Given the description of an element on the screen output the (x, y) to click on. 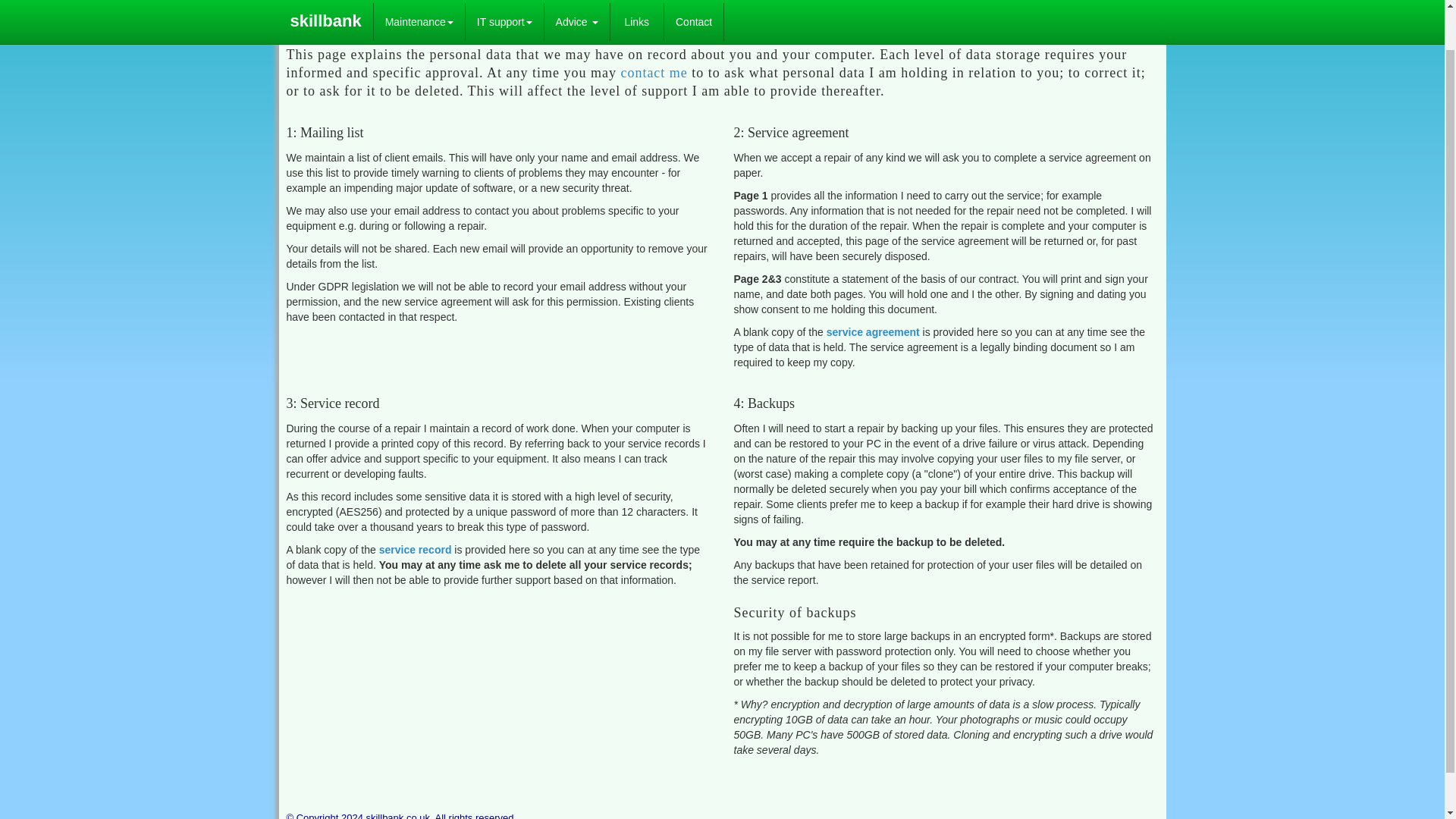
service agreement (873, 331)
contact me (653, 72)
service record (414, 549)
